Given the description of an element on the screen output the (x, y) to click on. 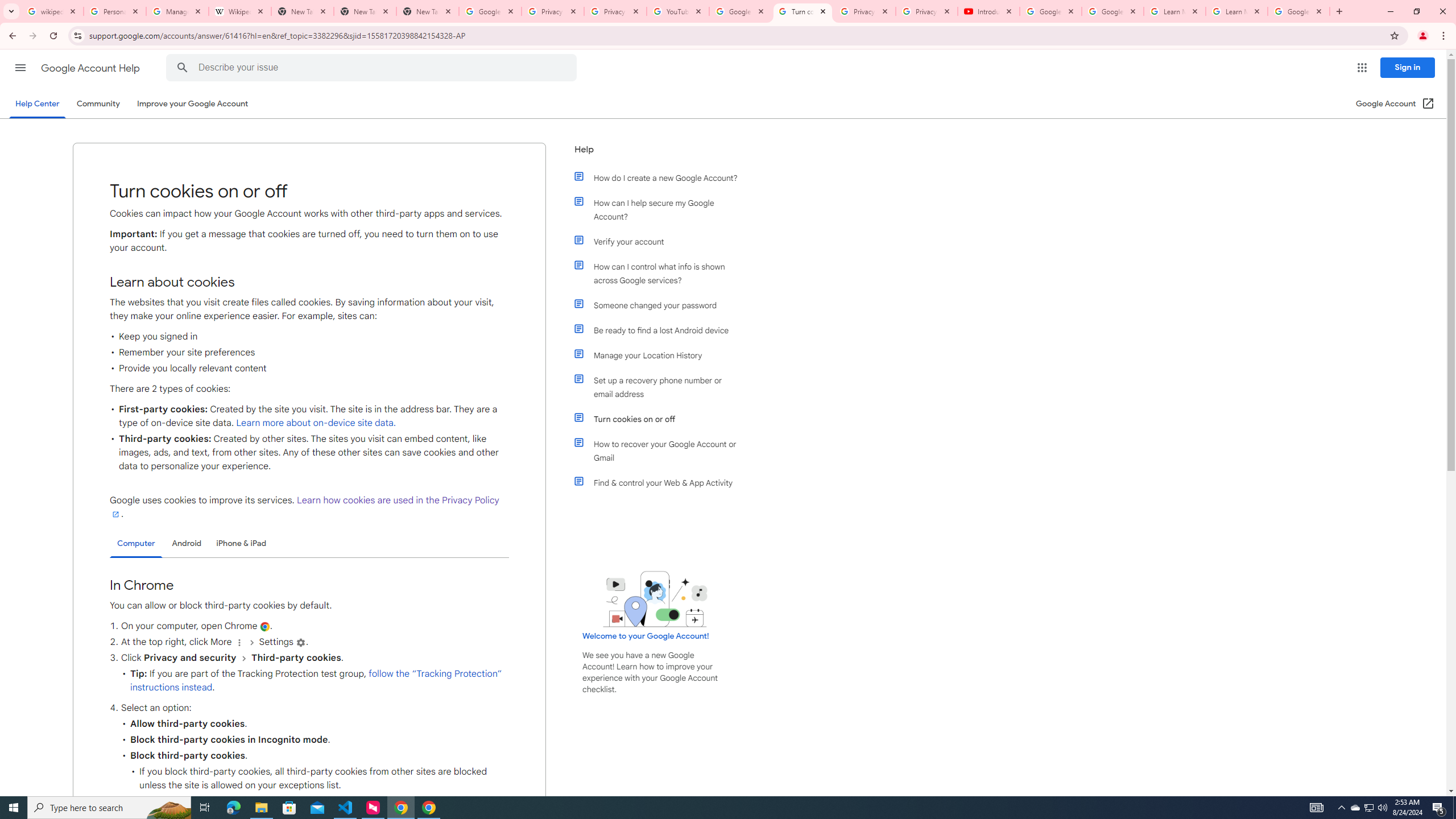
Describe your issue (373, 67)
New Tab (365, 11)
Turn cookies on or off - Computer - Google Account Help (802, 11)
Introduction | Google Privacy Policy - YouTube (988, 11)
Learning Center home page image (655, 598)
Learn how cookies are used in the Privacy Policy (304, 507)
Learn more about on-device site data. (315, 423)
More (239, 642)
Someone changed your password (661, 305)
and then (243, 657)
How can I help secure my Google Account? (661, 209)
